Given the description of an element on the screen output the (x, y) to click on. 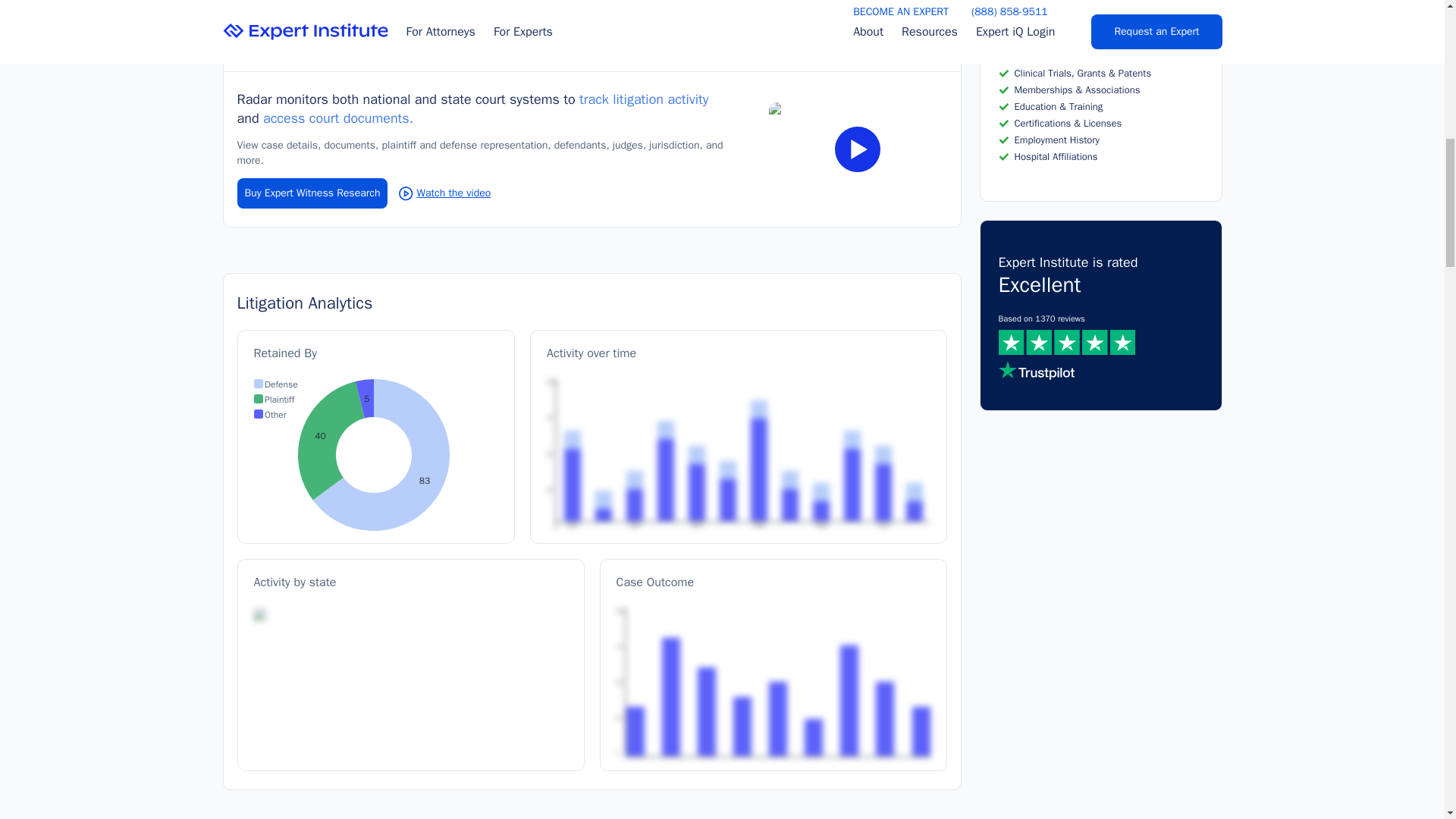
Watch the video (443, 192)
Buy Expert Witness Research (311, 193)
